Given the description of an element on the screen output the (x, y) to click on. 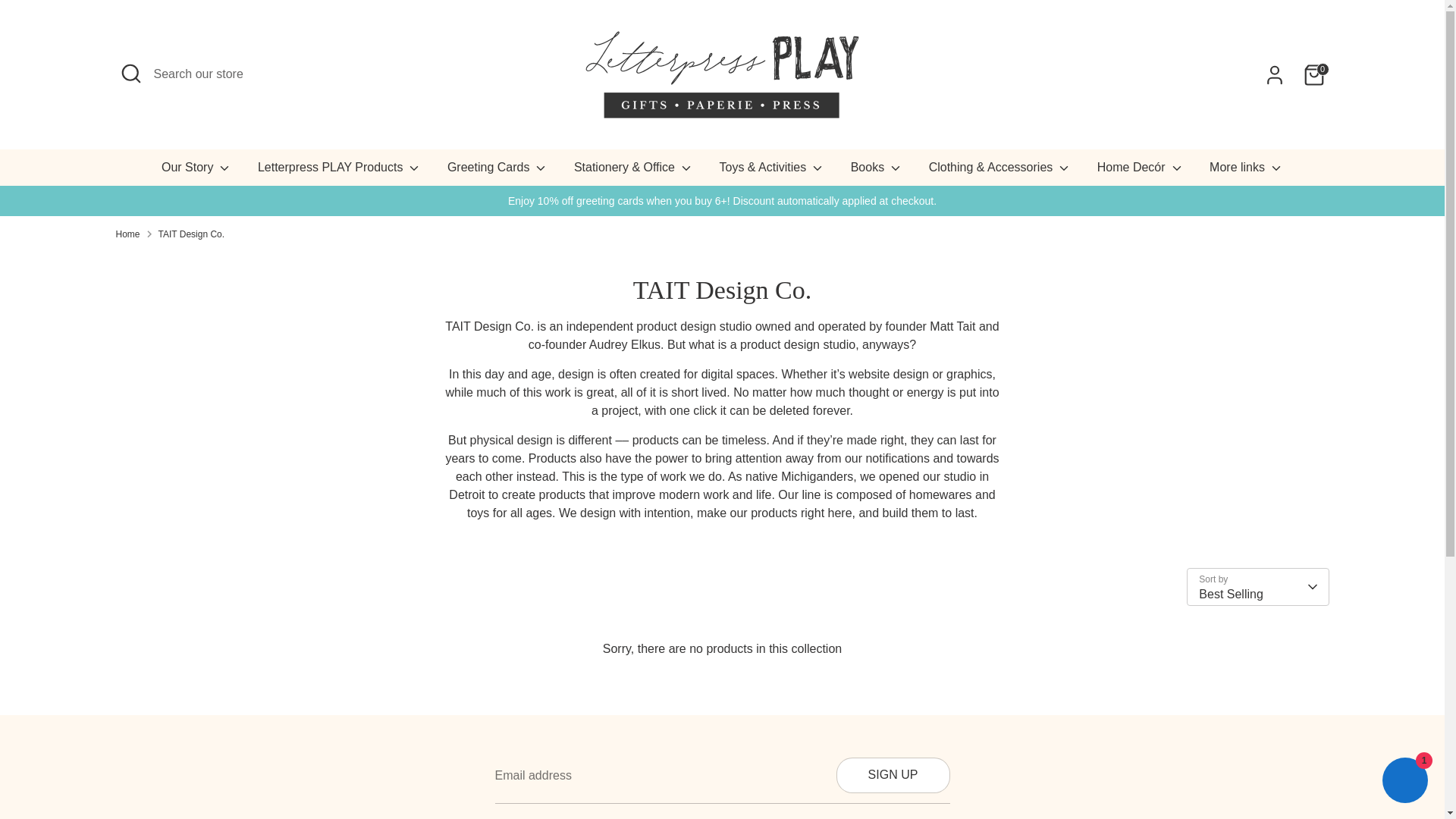
0 (1312, 73)
Shopify online store chat (1404, 781)
